Given the description of an element on the screen output the (x, y) to click on. 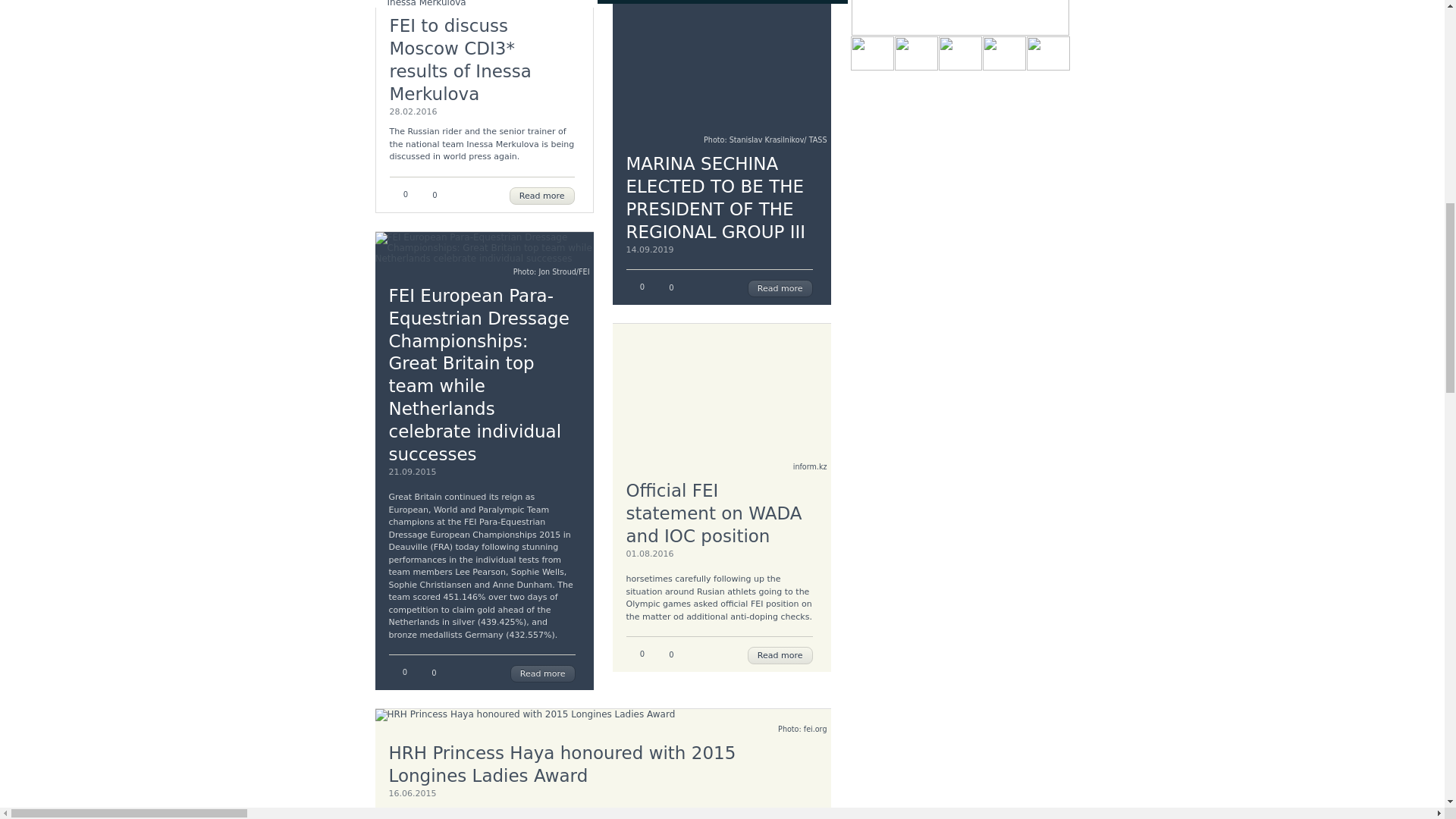
Read more (542, 195)
Read more (543, 673)
Read more (780, 655)
Read more (780, 288)
